Given the description of an element on the screen output the (x, y) to click on. 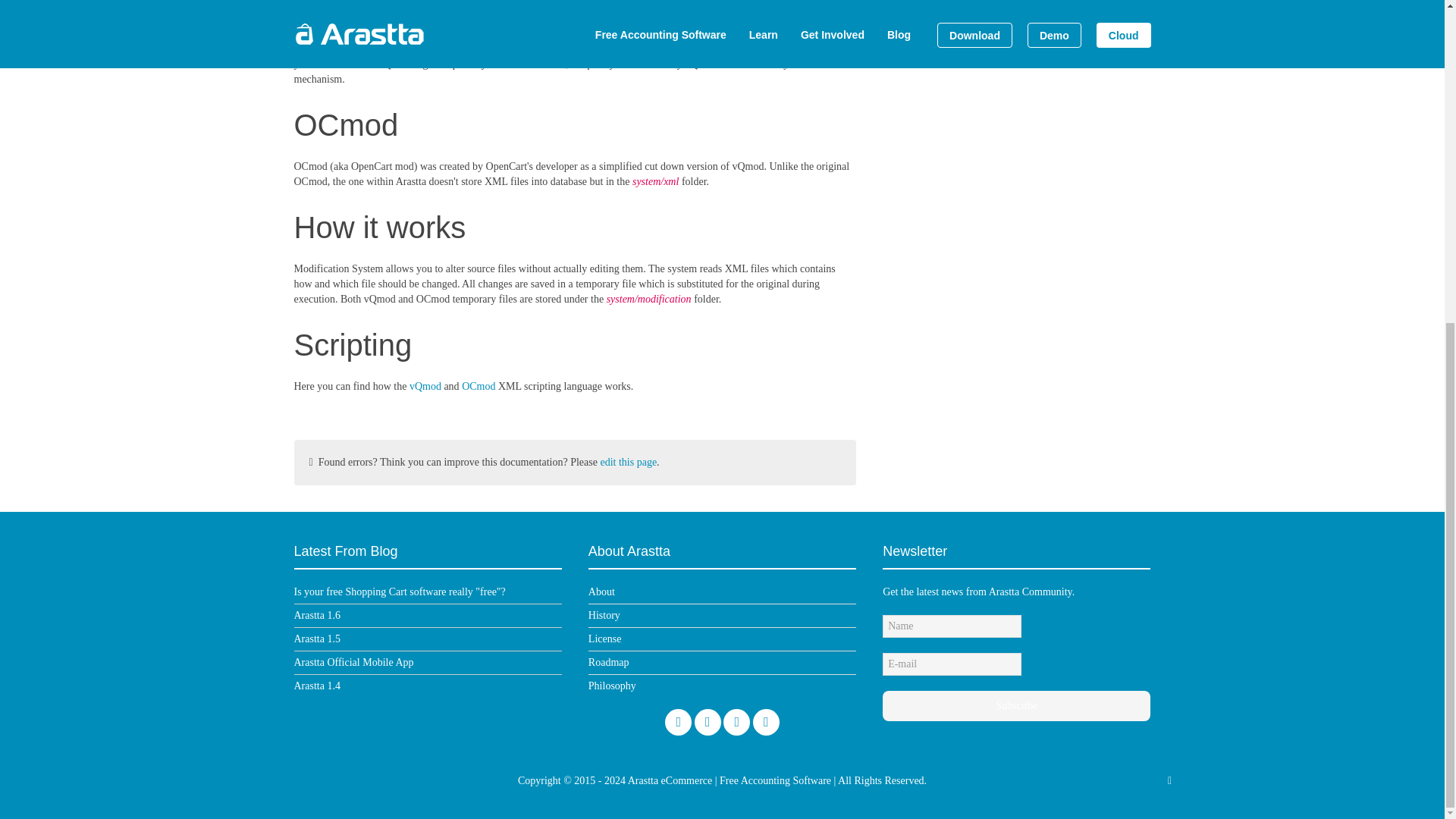
E-mail (952, 663)
Arastta History (604, 614)
edit this page (627, 461)
About Arastta (601, 591)
vQmod (310, 48)
OCmod (478, 386)
Arastta Roadmap (608, 662)
Arastta Philosophy (612, 685)
Subscribe (1016, 706)
Arastta Facebook (736, 722)
